Given the description of an element on the screen output the (x, y) to click on. 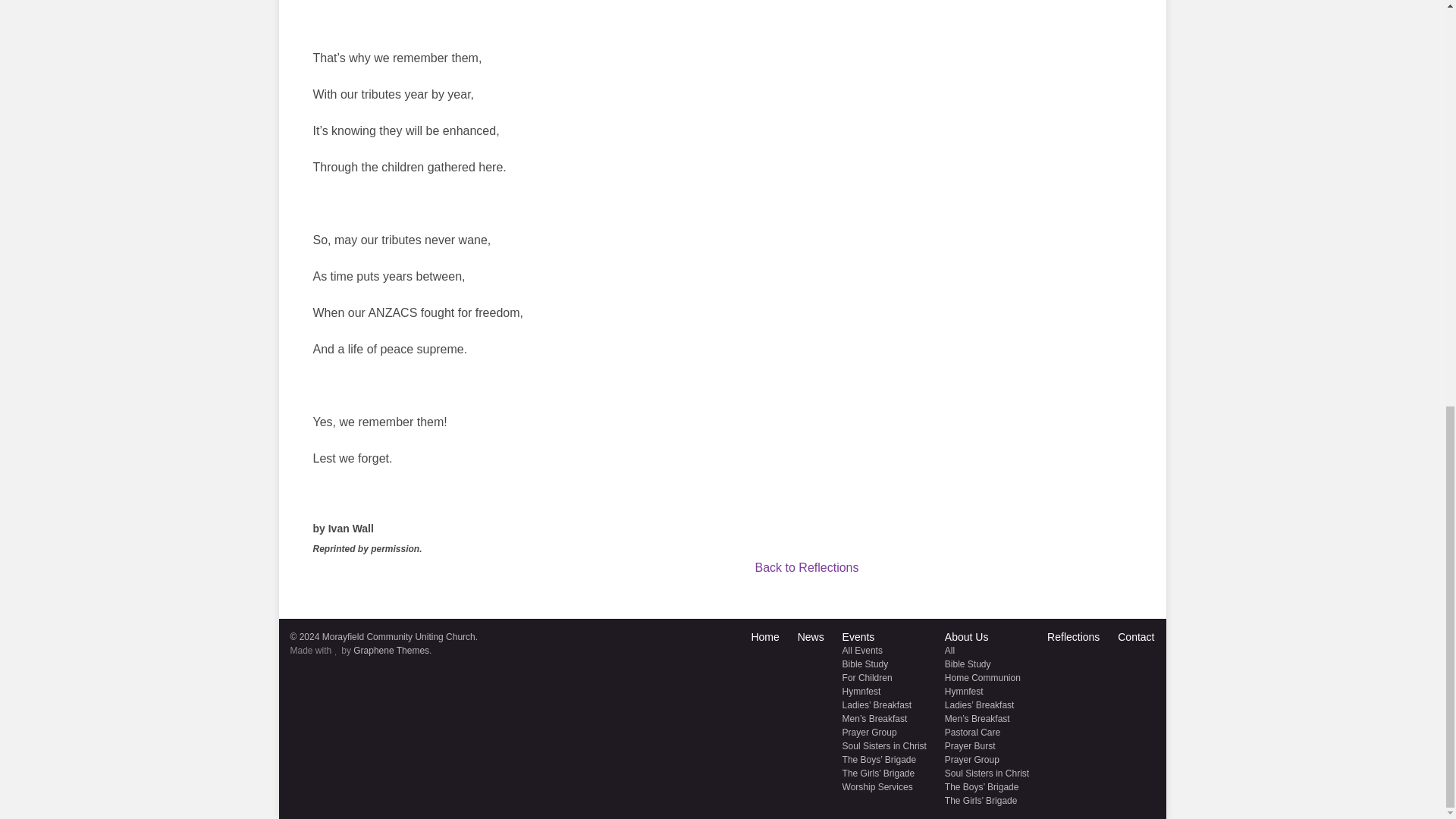
Back to Reflections (807, 567)
